Given the description of an element on the screen output the (x, y) to click on. 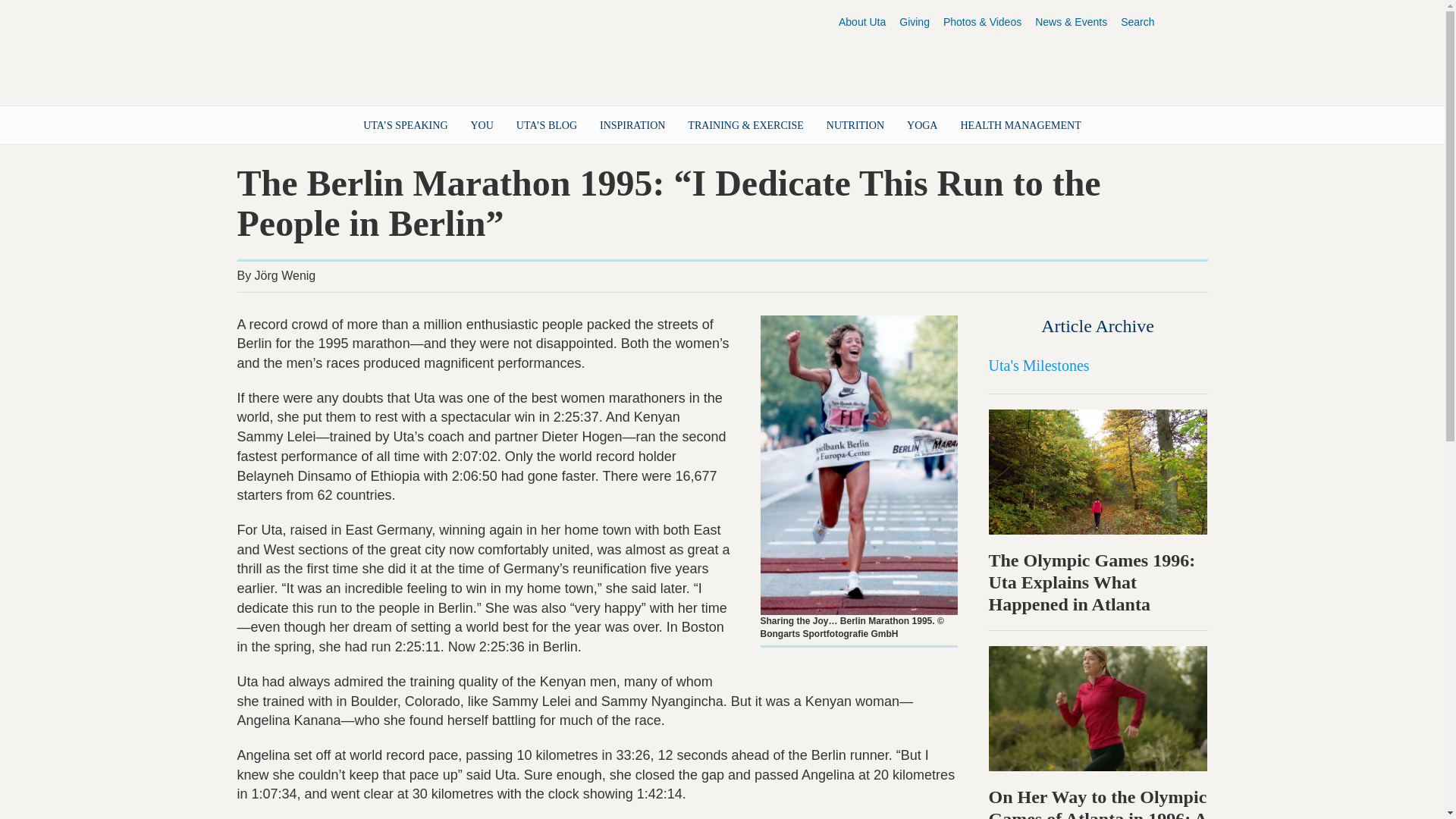
Giving (914, 22)
About Uta (861, 22)
NUTRITION (855, 125)
YOGA (922, 125)
HEALTH MANAGEMENT (1020, 125)
Uta's Milestones (1038, 365)
INSPIRATION (632, 125)
YOU (482, 125)
